Given the description of an element on the screen output the (x, y) to click on. 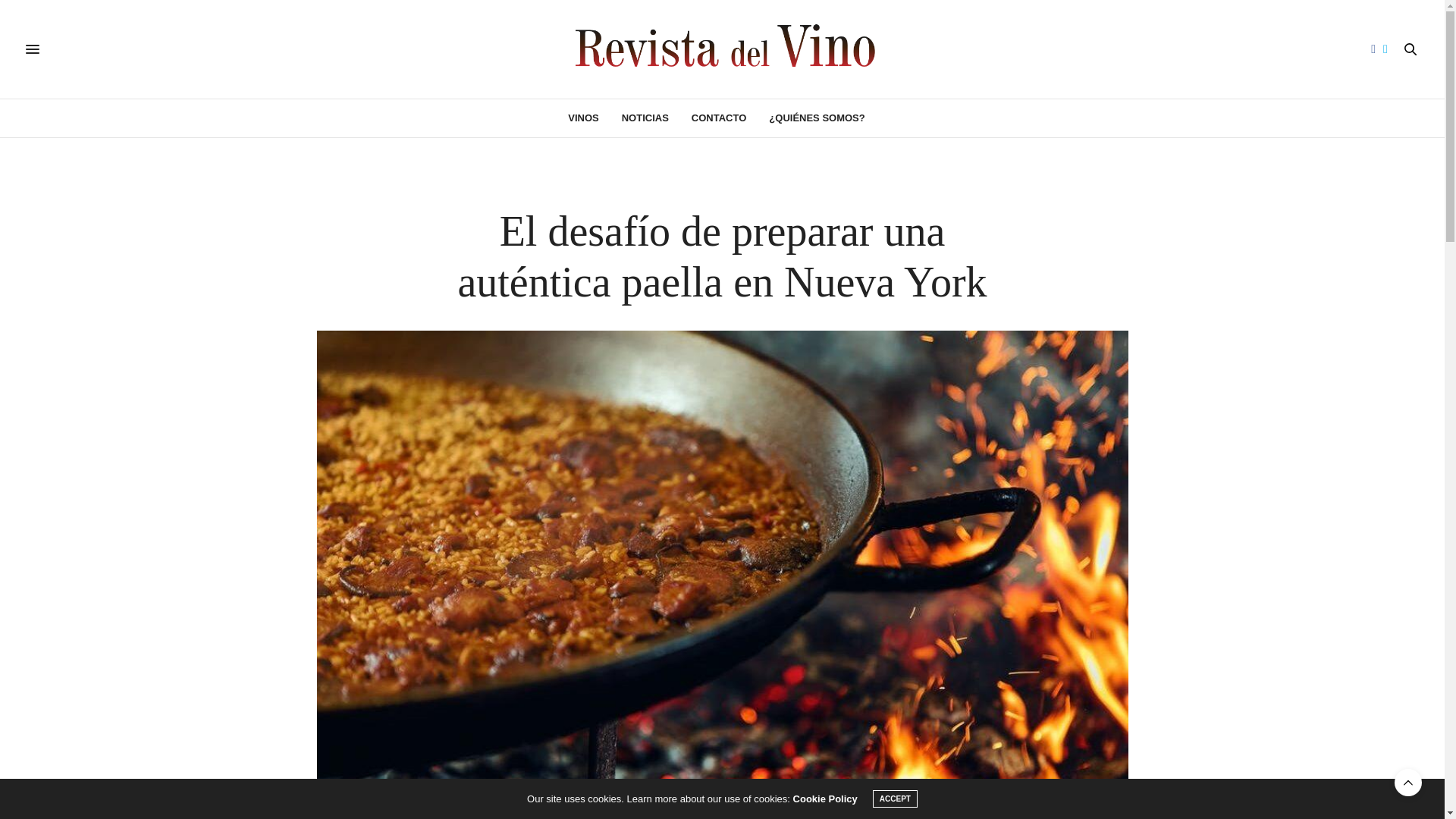
Revista del Vino (722, 49)
CONTACTO (718, 118)
NOTICIAS (644, 118)
